Given the description of an element on the screen output the (x, y) to click on. 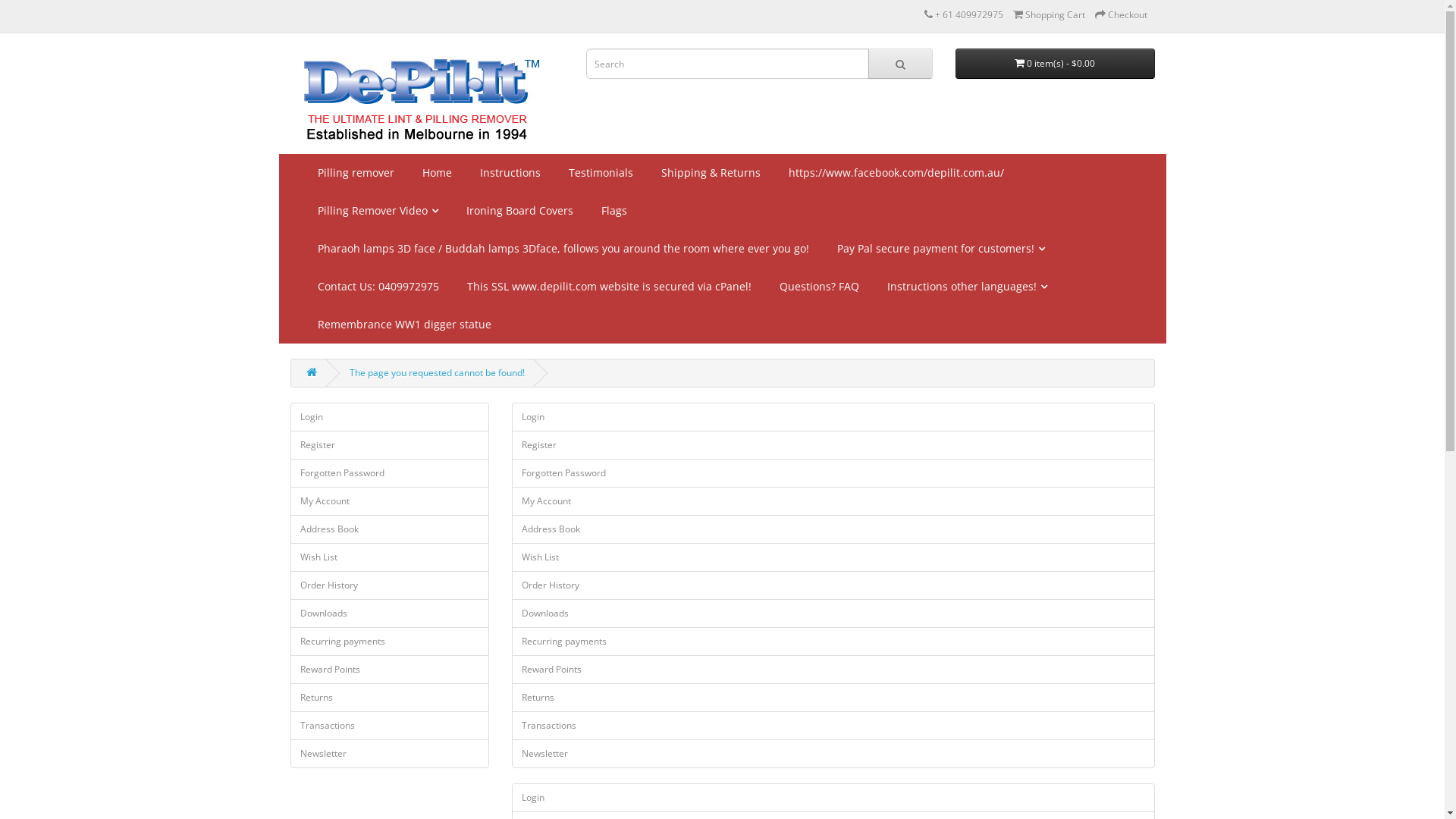
Wish List Element type: text (389, 556)
Register Element type: text (389, 444)
Wish List Element type: text (832, 556)
Downloads Element type: text (389, 613)
Pilling Remover Video Element type: text (375, 210)
Pay Pal secure payment for customers! Element type: text (938, 248)
Reward Points Element type: text (389, 669)
Recurring payments Element type: text (389, 641)
Newsletter Element type: text (389, 753)
Forgotten Password Element type: text (389, 472)
Questions? FAQ Element type: text (816, 286)
Instructions Element type: text (508, 172)
Register Element type: text (832, 444)
Pilling remover Element type: text (353, 172)
Shopping Cart Element type: text (1049, 14)
Contact Us: 0409972975 Element type: text (376, 286)
The page you requested cannot be found! Element type: text (436, 372)
Transactions Element type: text (389, 725)
Ironing Board Covers Element type: text (517, 210)
Checkout Element type: text (1121, 14)
Transactions Element type: text (832, 725)
Remembrance WW1 digger statue Element type: text (402, 324)
Returns Element type: text (832, 697)
Home Element type: text (435, 172)
Login Element type: text (832, 416)
Downloads Element type: text (832, 613)
Forgotten Password Element type: text (832, 472)
Address Book Element type: text (832, 528)
Flags Element type: text (612, 210)
0 item(s) - $0.00 Element type: text (1054, 63)
Shipping & Returns Element type: text (707, 172)
Order History Element type: text (832, 585)
Reward Points Element type: text (832, 669)
My Account Element type: text (389, 500)
Address Book Element type: text (389, 528)
Order History Element type: text (389, 585)
https://www.facebook.com/depilit.com.au/ Element type: text (893, 172)
Returns Element type: text (389, 697)
Newsletter Element type: text (832, 753)
Login Element type: text (389, 416)
Login Element type: text (832, 797)
My Account Element type: text (832, 500)
Depilit Products Element type: hover (419, 97)
Testimonials Element type: text (598, 172)
Instructions other languages! Element type: text (964, 286)
Recurring payments Element type: text (832, 641)
This SSL www.depilit.com website is secured via cPanel! Element type: text (606, 286)
